Given the description of an element on the screen output the (x, y) to click on. 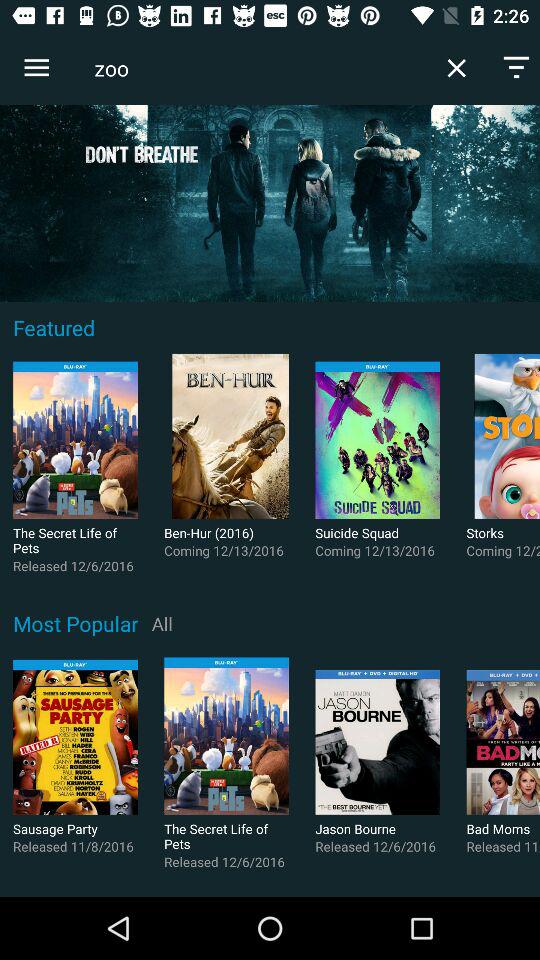
select item next to the zoo (456, 67)
